Given the description of an element on the screen output the (x, y) to click on. 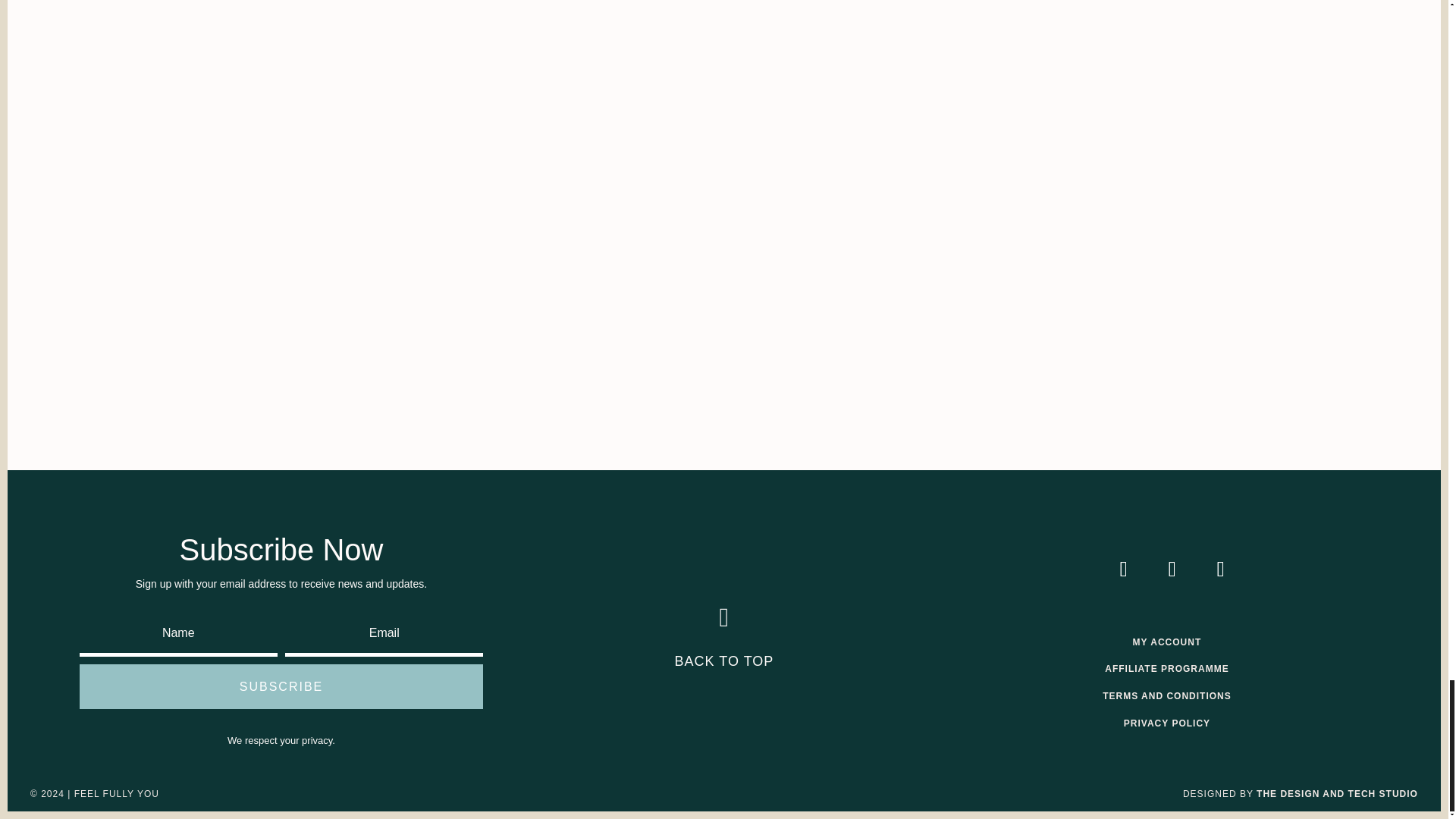
Follow on Facebook (1172, 568)
Follow on Instagram (1123, 568)
Follow on Youtube (1220, 568)
